Given the description of an element on the screen output the (x, y) to click on. 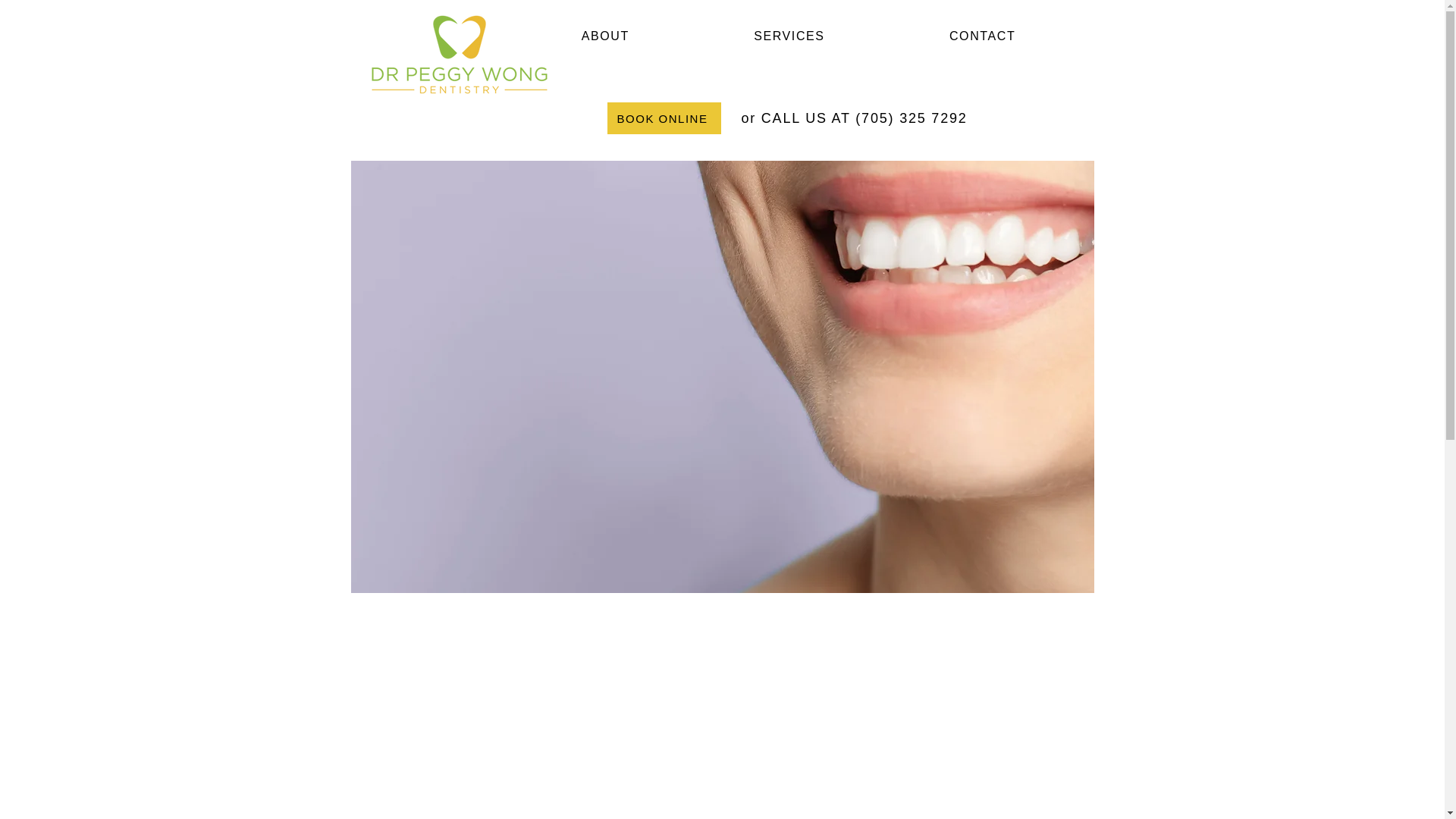
CONTACT (982, 37)
ABOUT (604, 37)
SERVICES (788, 37)
BOOK ONLINE (663, 118)
